Given the description of an element on the screen output the (x, y) to click on. 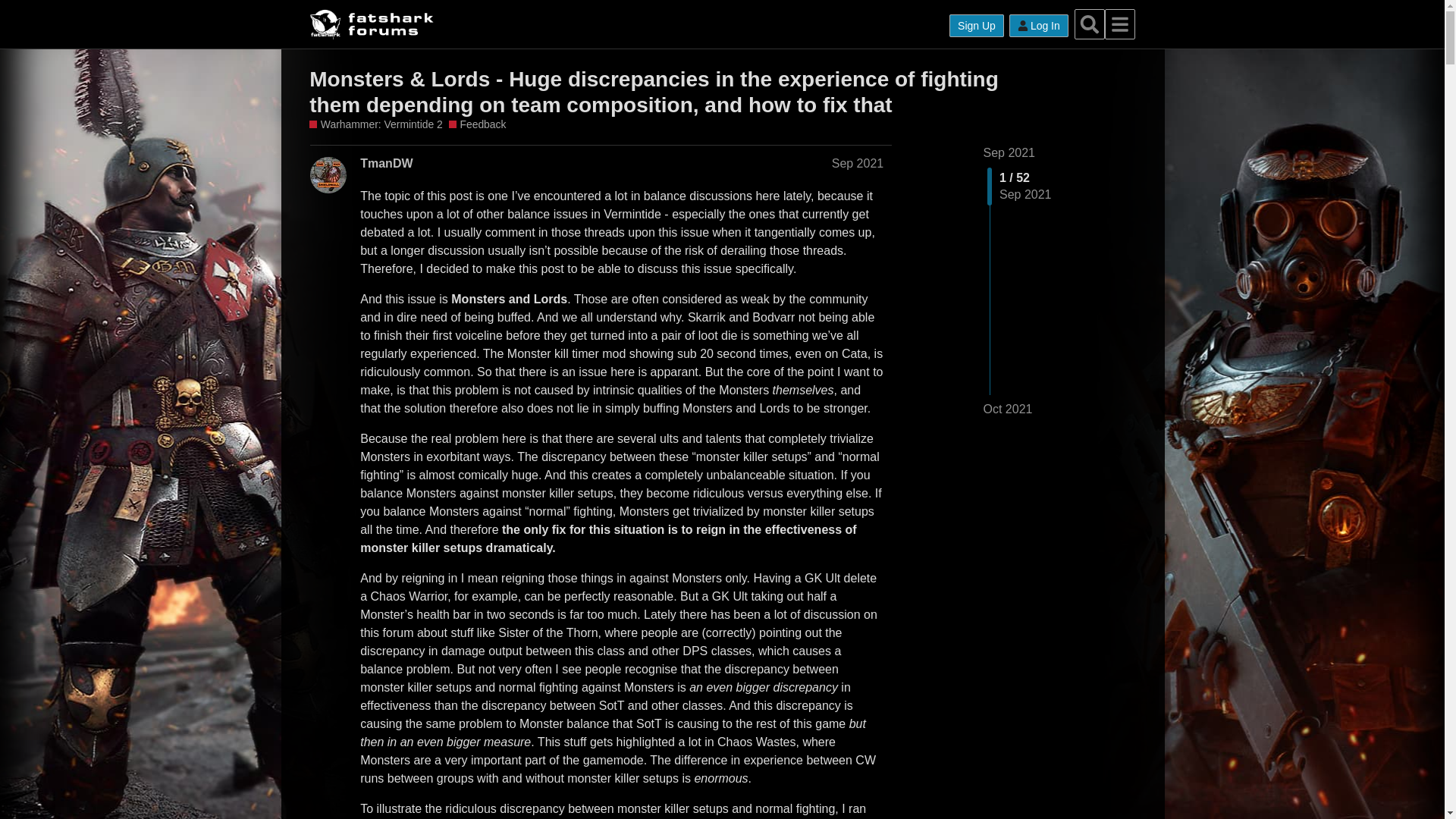
Sep 2021 (857, 162)
Sep 2021 (1008, 152)
Search (1089, 24)
Log In (1038, 25)
Warhammer: Vermintide 2 (375, 124)
Feedback (477, 124)
Jump to the first post (1008, 152)
Post date (857, 162)
TmanDW (385, 162)
menu (1120, 24)
Sign Up (976, 25)
Jump to the last post (1007, 408)
Oct 2021 (1007, 409)
